Given the description of an element on the screen output the (x, y) to click on. 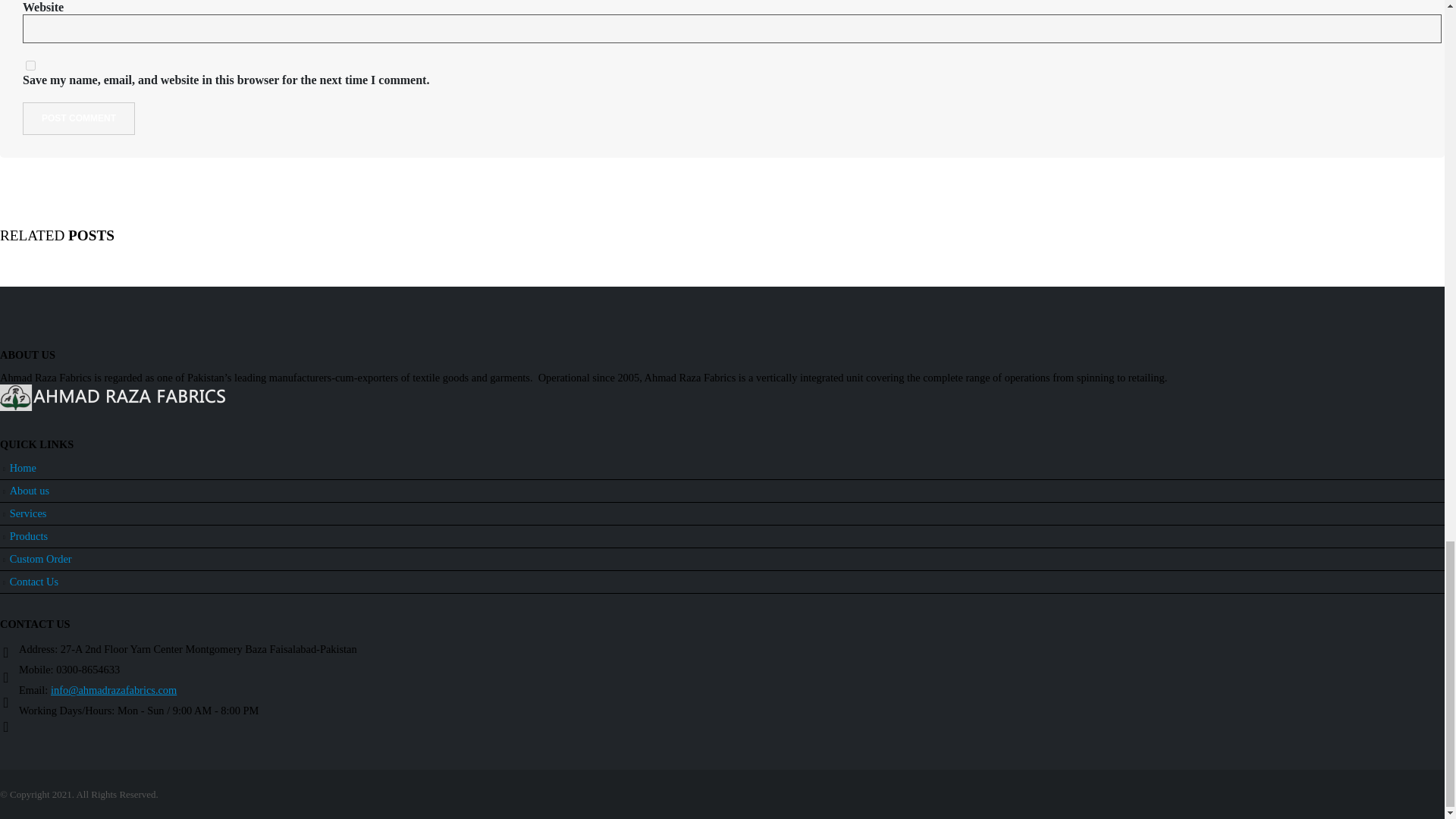
yes (30, 65)
Post Comment (79, 118)
Post Comment (79, 118)
